Given the description of an element on the screen output the (x, y) to click on. 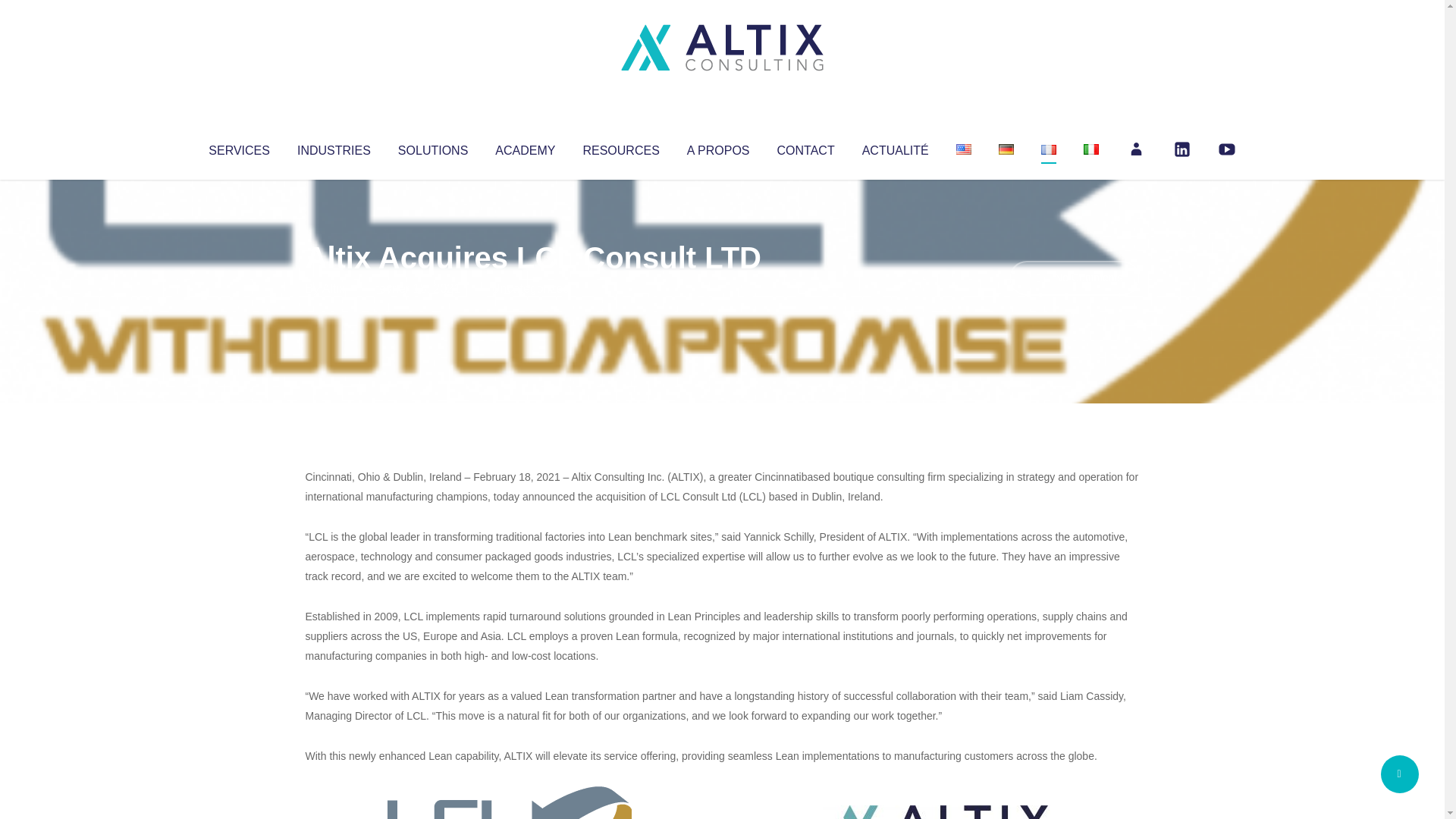
A PROPOS (718, 146)
RESOURCES (620, 146)
SERVICES (238, 146)
Articles par Altix (333, 287)
No Comments (1073, 278)
SOLUTIONS (432, 146)
Uncategorized (530, 287)
ACADEMY (524, 146)
INDUSTRIES (334, 146)
Altix (333, 287)
